Given the description of an element on the screen output the (x, y) to click on. 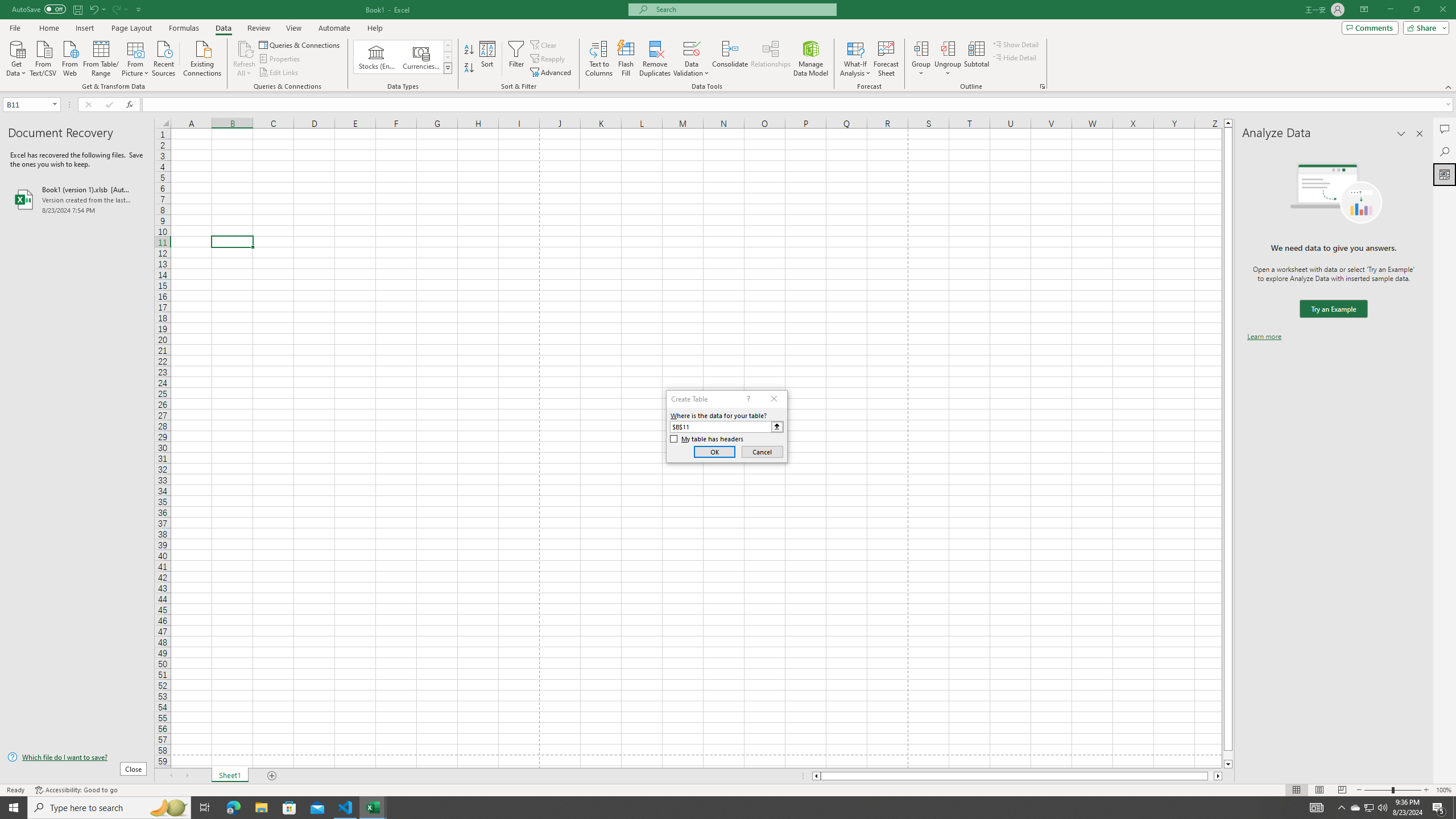
Consolidate... (729, 58)
